Given the description of an element on the screen output the (x, y) to click on. 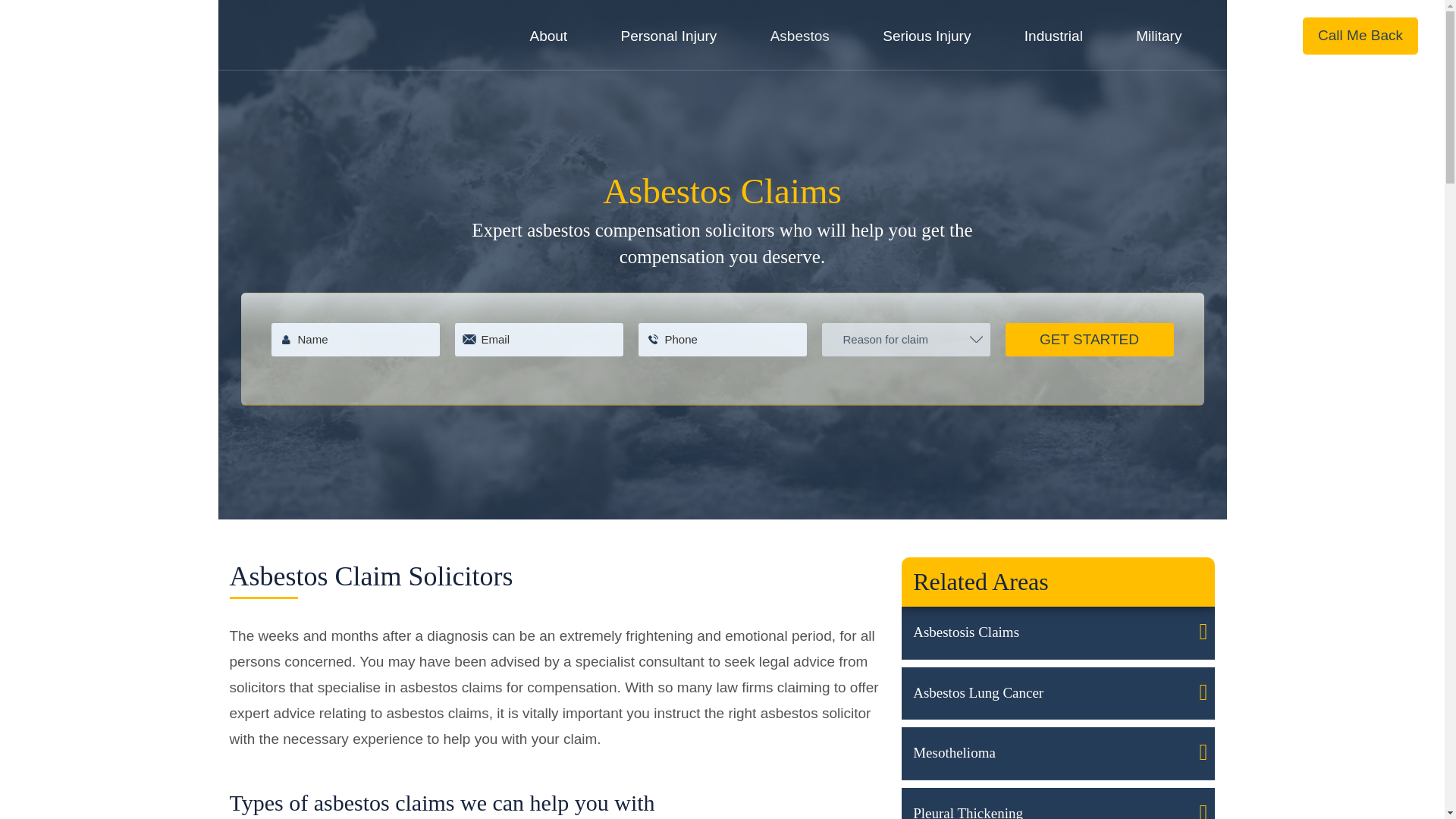
Mesothelioma (1057, 753)
Asbestosis Claims (1057, 633)
Pleural Thickening (1057, 803)
NIGEL ASKEW SOLICITORS (120, 112)
Serious Injury (933, 36)
About (555, 36)
Personal Injury (675, 36)
Get Started (1089, 339)
Asbestos (806, 36)
Industrial (1060, 36)
Asbestos Lung Cancer (1057, 693)
